Given the description of an element on the screen output the (x, y) to click on. 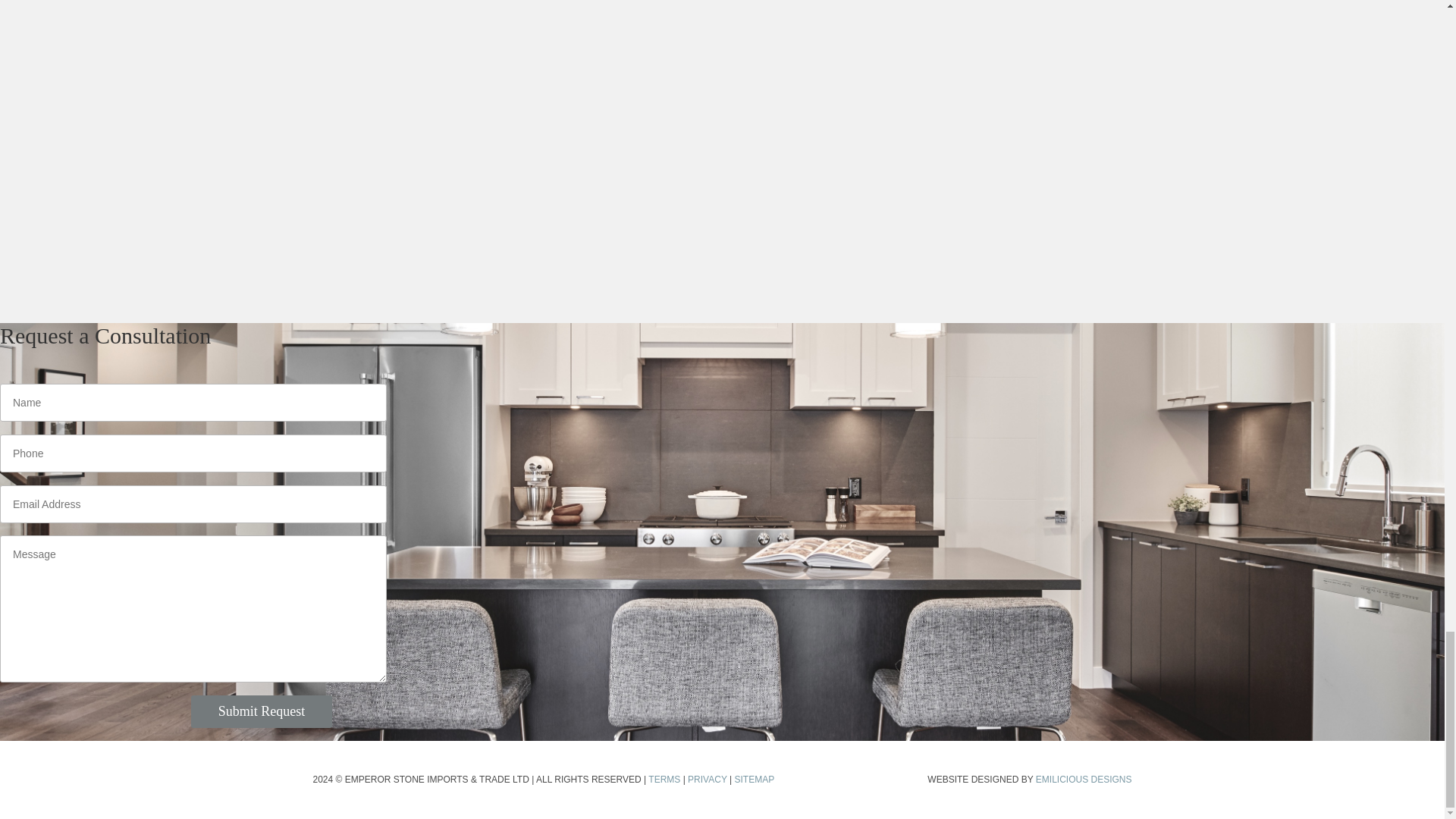
Submit Request (261, 711)
